Given the description of an element on the screen output the (x, y) to click on. 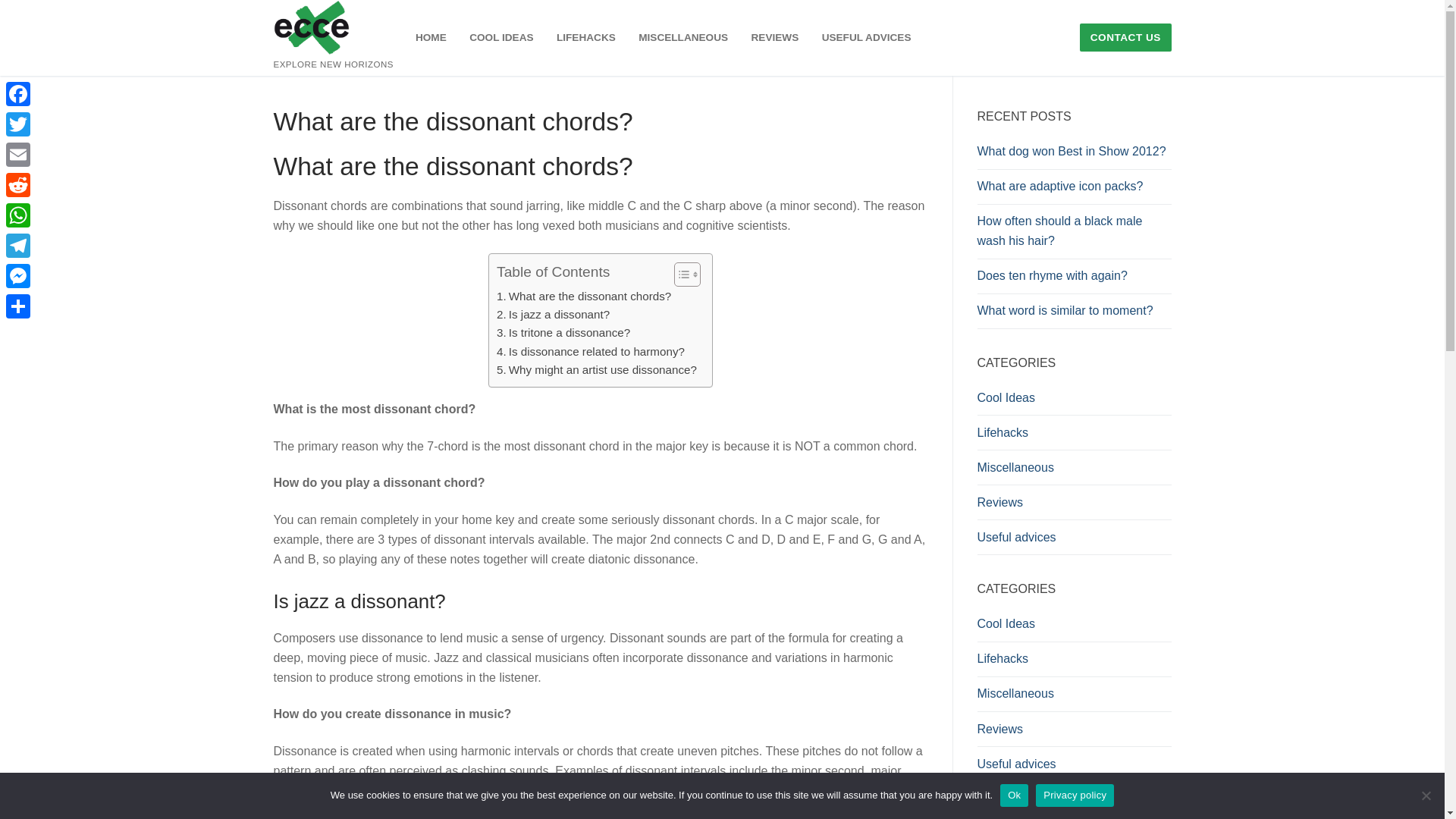
Why might an artist use dissonance? (596, 370)
WhatsApp (17, 214)
How often should a black male wash his hair? (1073, 234)
Is dissonance related to harmony? (590, 352)
Does ten rhyme with again? (1073, 279)
What are adaptive icon packs? (1073, 189)
REVIEWS (775, 37)
CONTACT US (1125, 37)
USEFUL ADVICES (866, 37)
Useful advices (1073, 541)
What word is similar to moment? (1073, 314)
Email (17, 154)
MISCELLANEOUS (683, 37)
Is tritone a dissonance? (563, 332)
Miscellaneous (1073, 471)
